Given the description of an element on the screen output the (x, y) to click on. 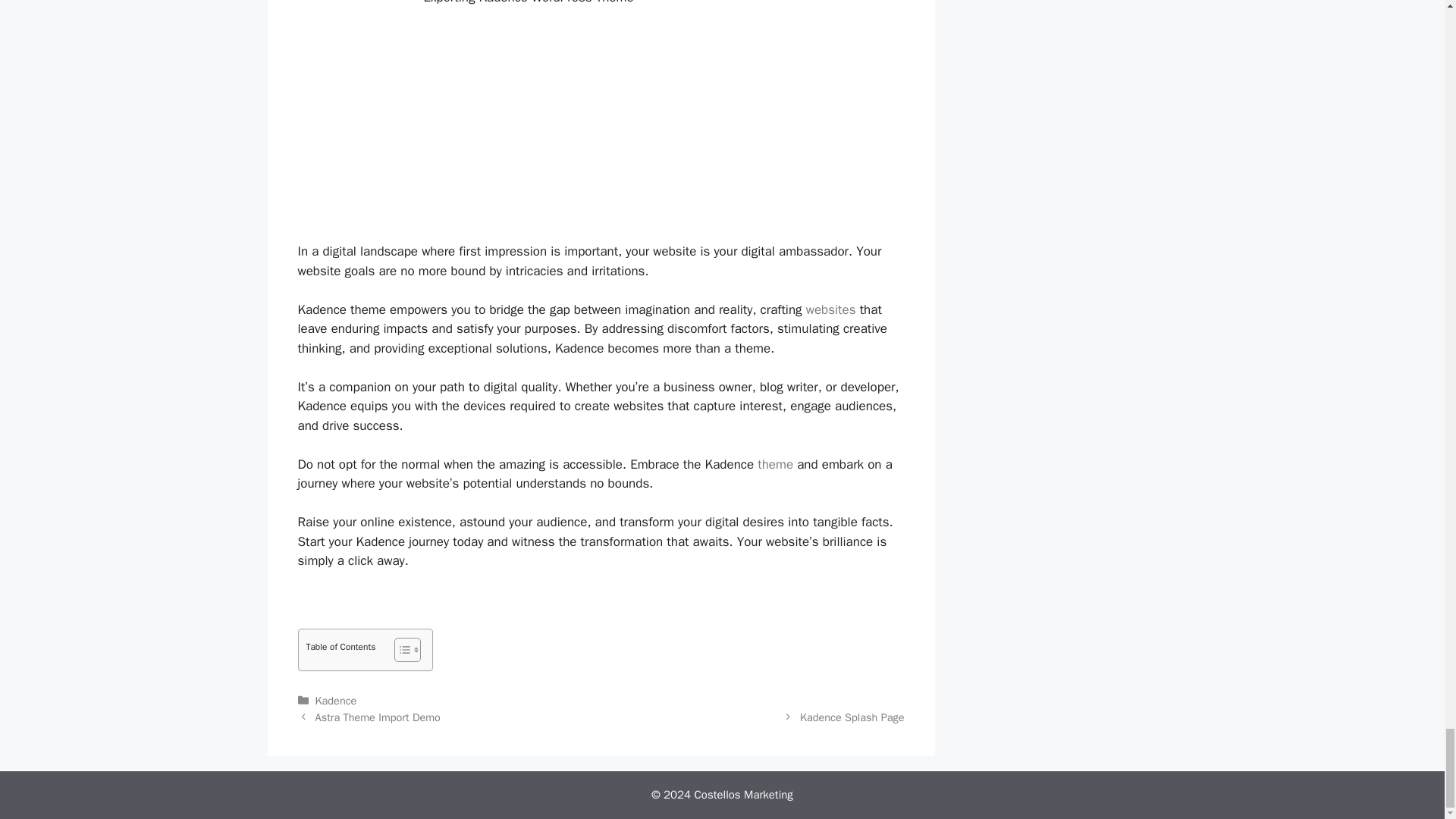
Astra Theme Import Demo (378, 716)
Kadence Splash Page (851, 716)
websites (831, 309)
theme (775, 464)
Kadence (335, 700)
